Given the description of an element on the screen output the (x, y) to click on. 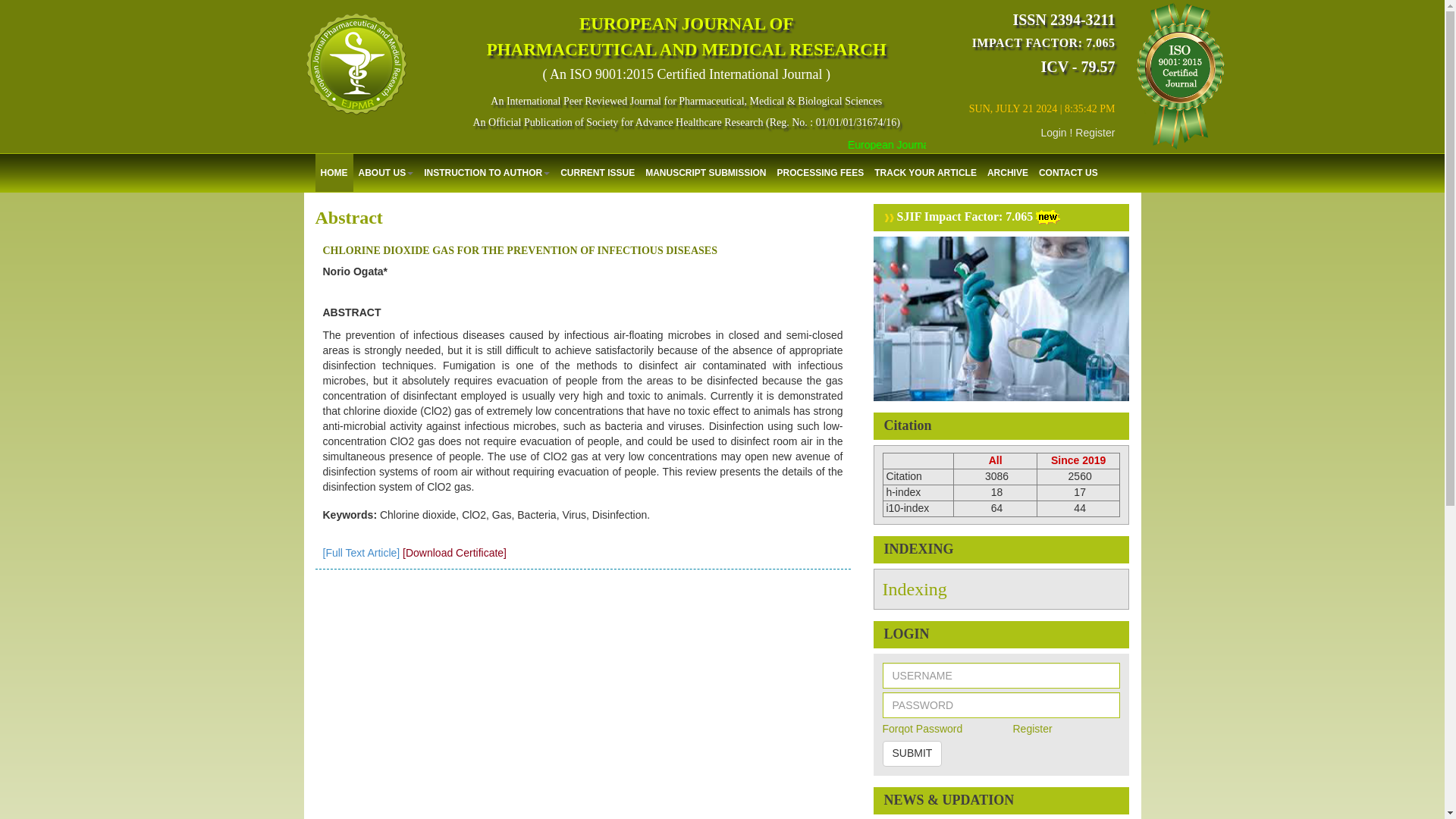
ABOUT US (386, 172)
ARCHIVE (1007, 172)
Login (1053, 132)
Register (1095, 132)
SUBMIT (912, 753)
HOME (334, 172)
PROCESSING FEES (820, 172)
Indexing (914, 588)
Register (1031, 728)
CONTACT US (1068, 172)
CURRENT ISSUE (597, 172)
MANUSCRIPT SUBMISSION (705, 172)
Forqot Password (922, 728)
SJIF Impact Factor: 7.065 (958, 215)
TRACK YOUR ARTICLE (925, 172)
